Given the description of an element on the screen output the (x, y) to click on. 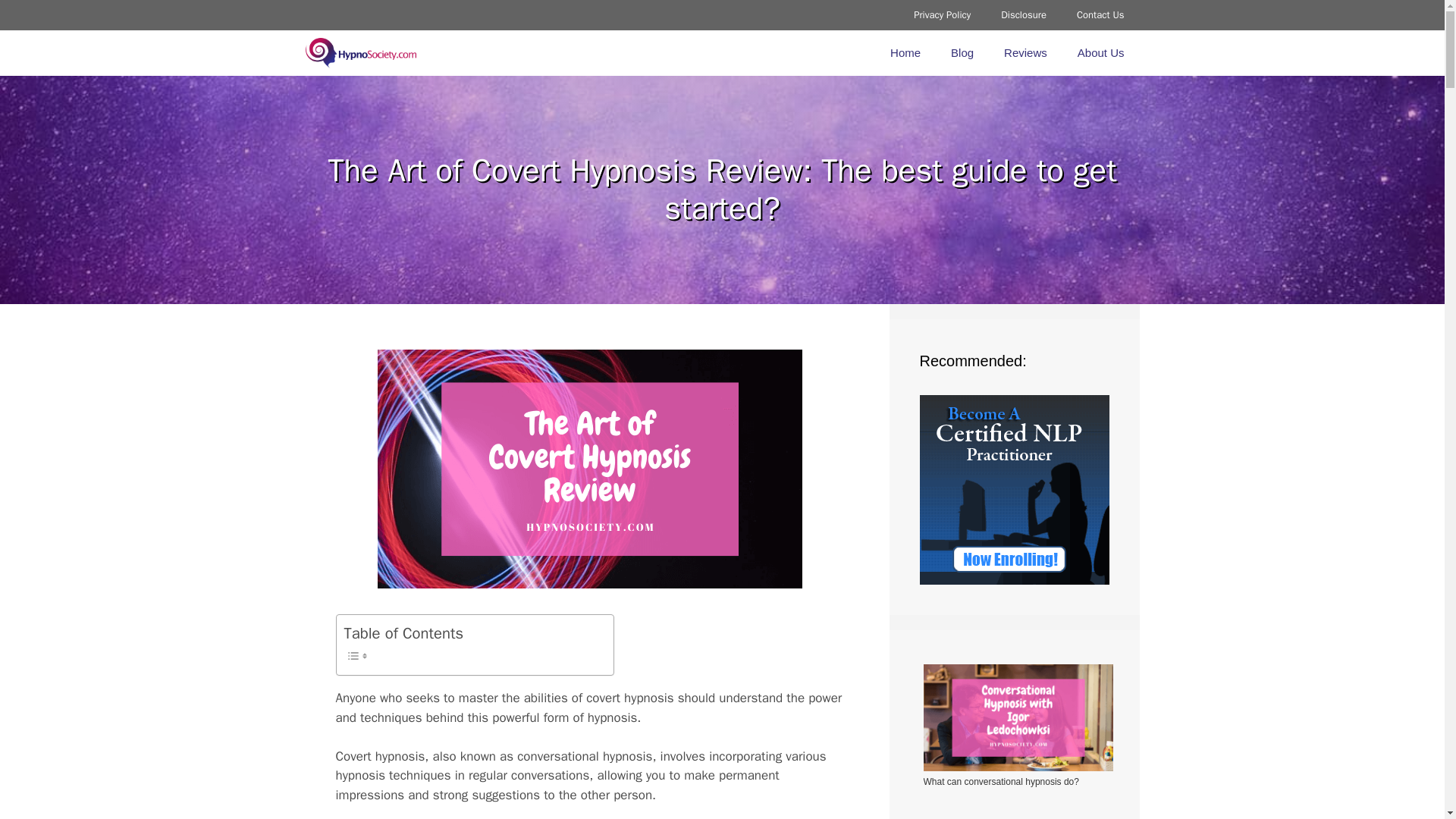
Blog (962, 53)
About Us (1101, 53)
HypnoSociety.com (363, 53)
Contact Us (1100, 15)
Home (905, 53)
Privacy Policy (941, 15)
HypnoSociety.com (359, 53)
Disclosure (1023, 15)
Reviews (1025, 53)
